Given the description of an element on the screen output the (x, y) to click on. 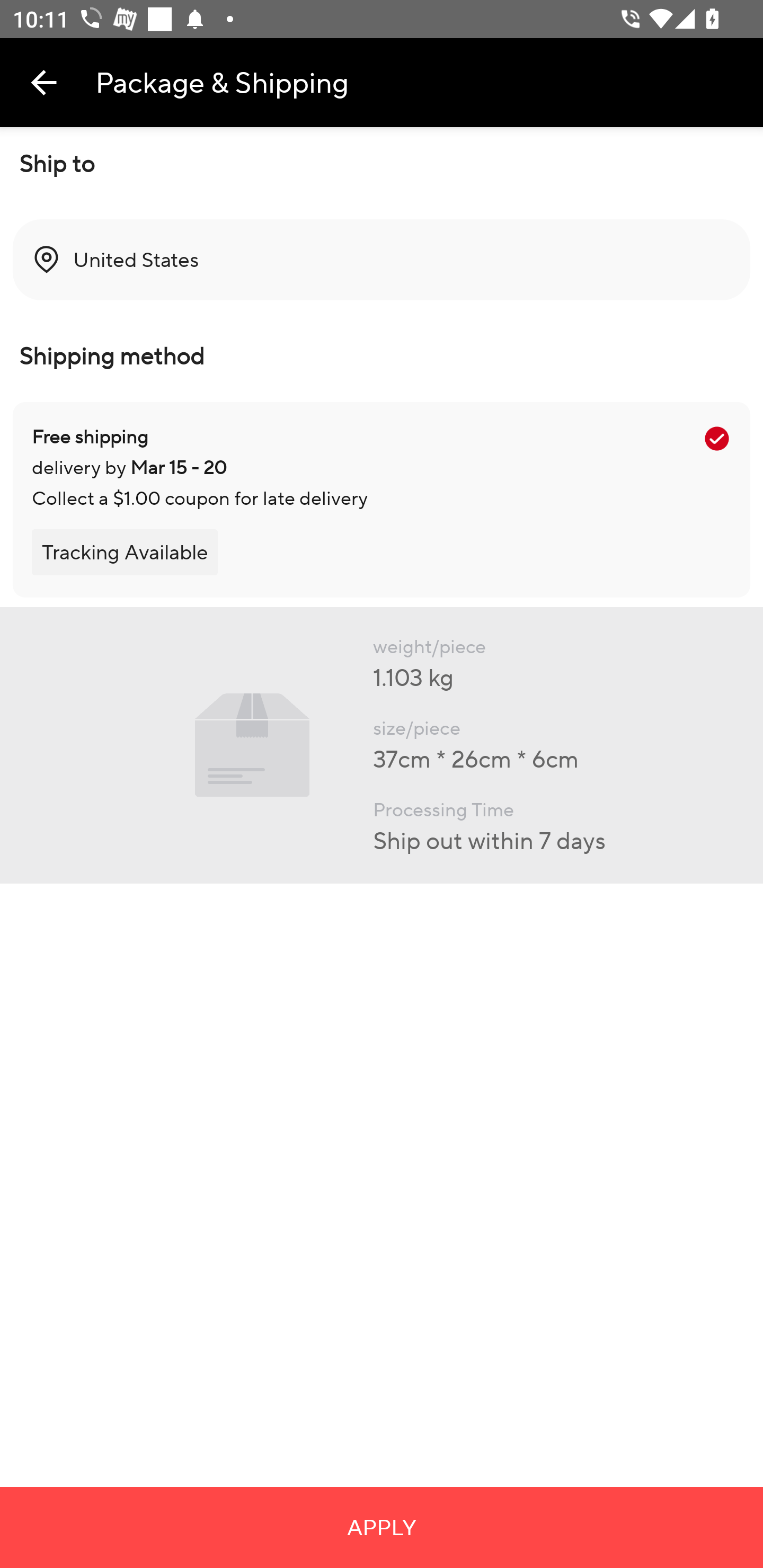
 United States (381, 260)
APPLY (381, 1527)
